Given the description of an element on the screen output the (x, y) to click on. 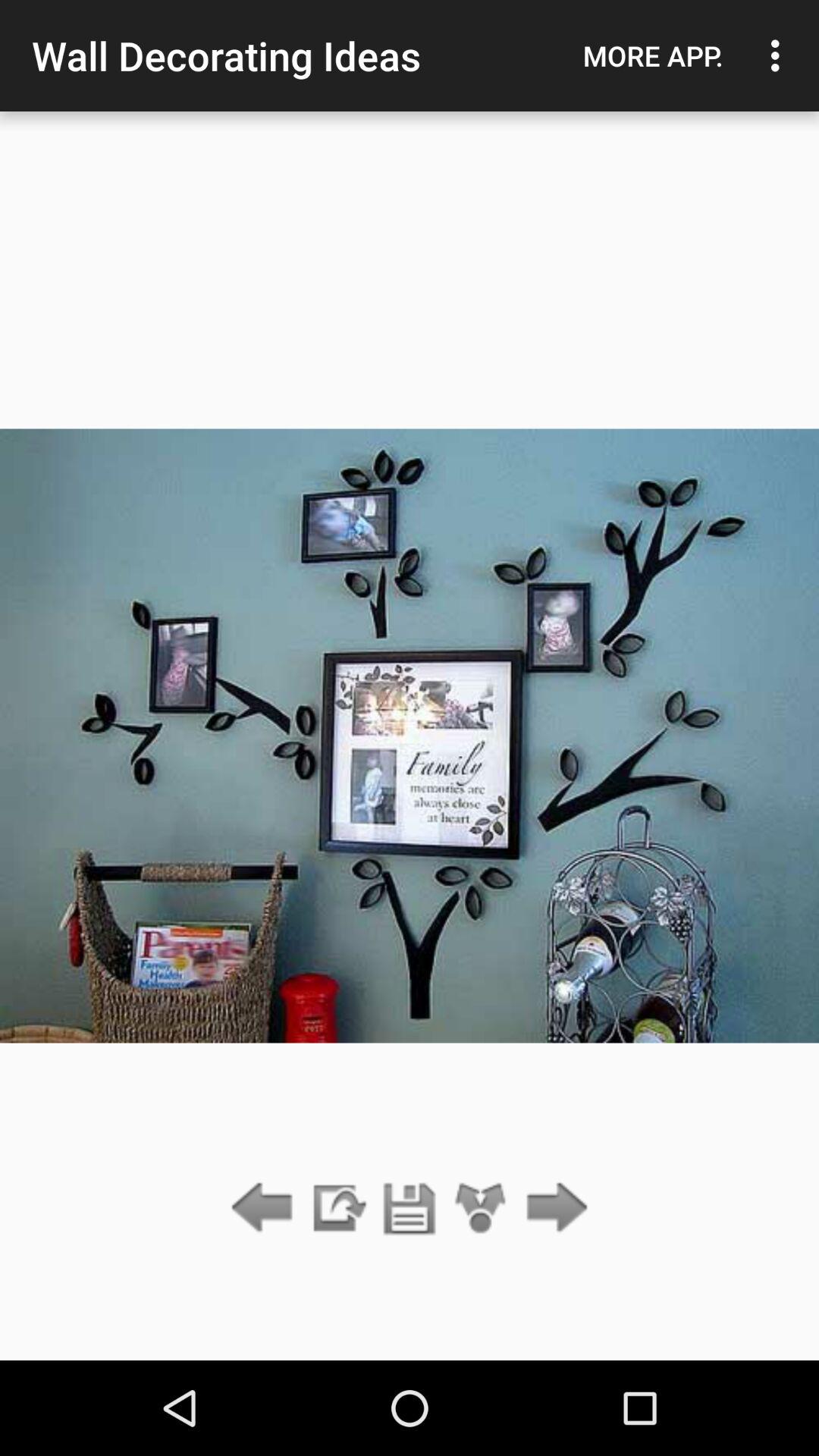
open more app. (653, 55)
